Given the description of an element on the screen output the (x, y) to click on. 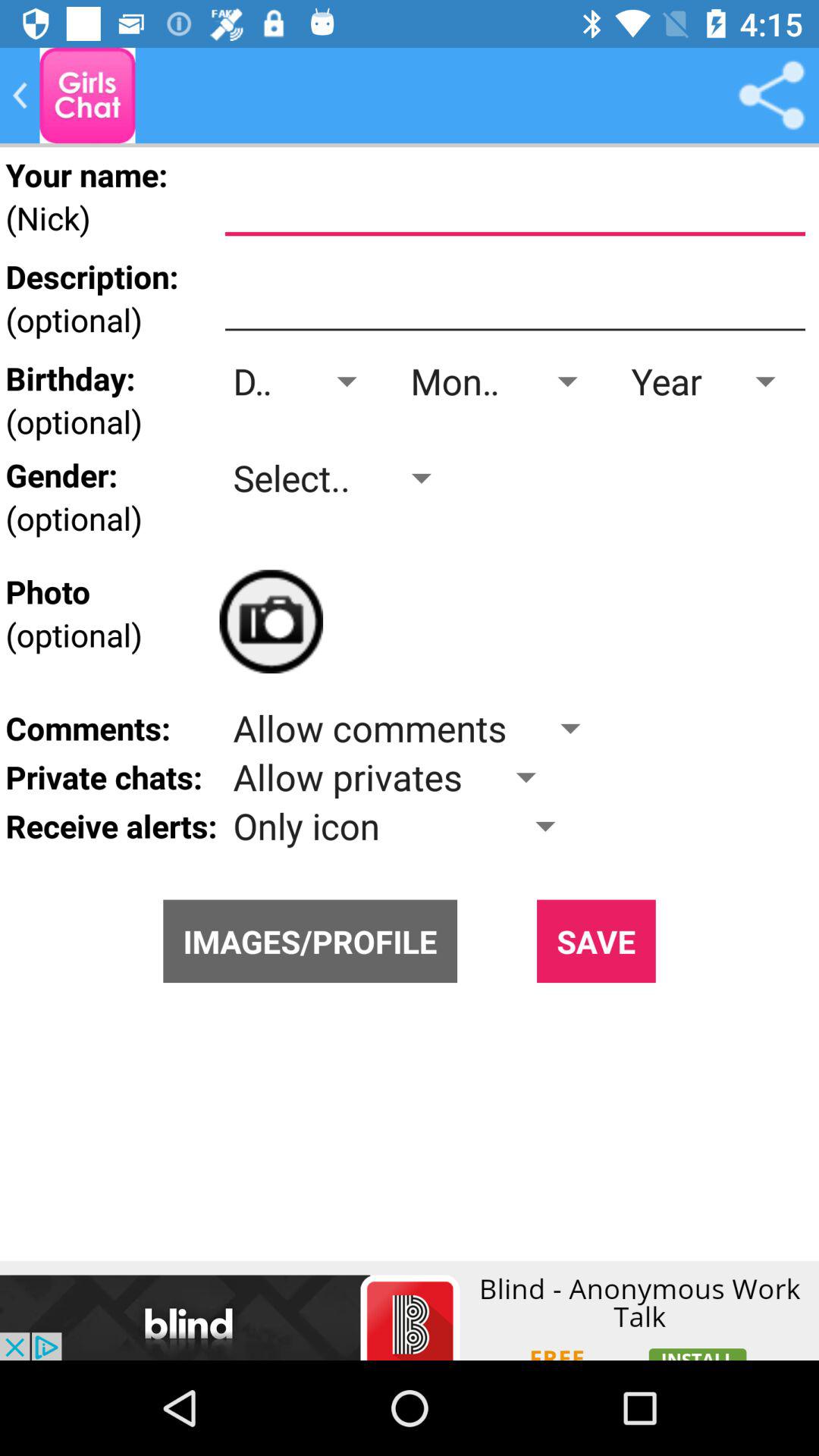
go back (19, 95)
